Given the description of an element on the screen output the (x, y) to click on. 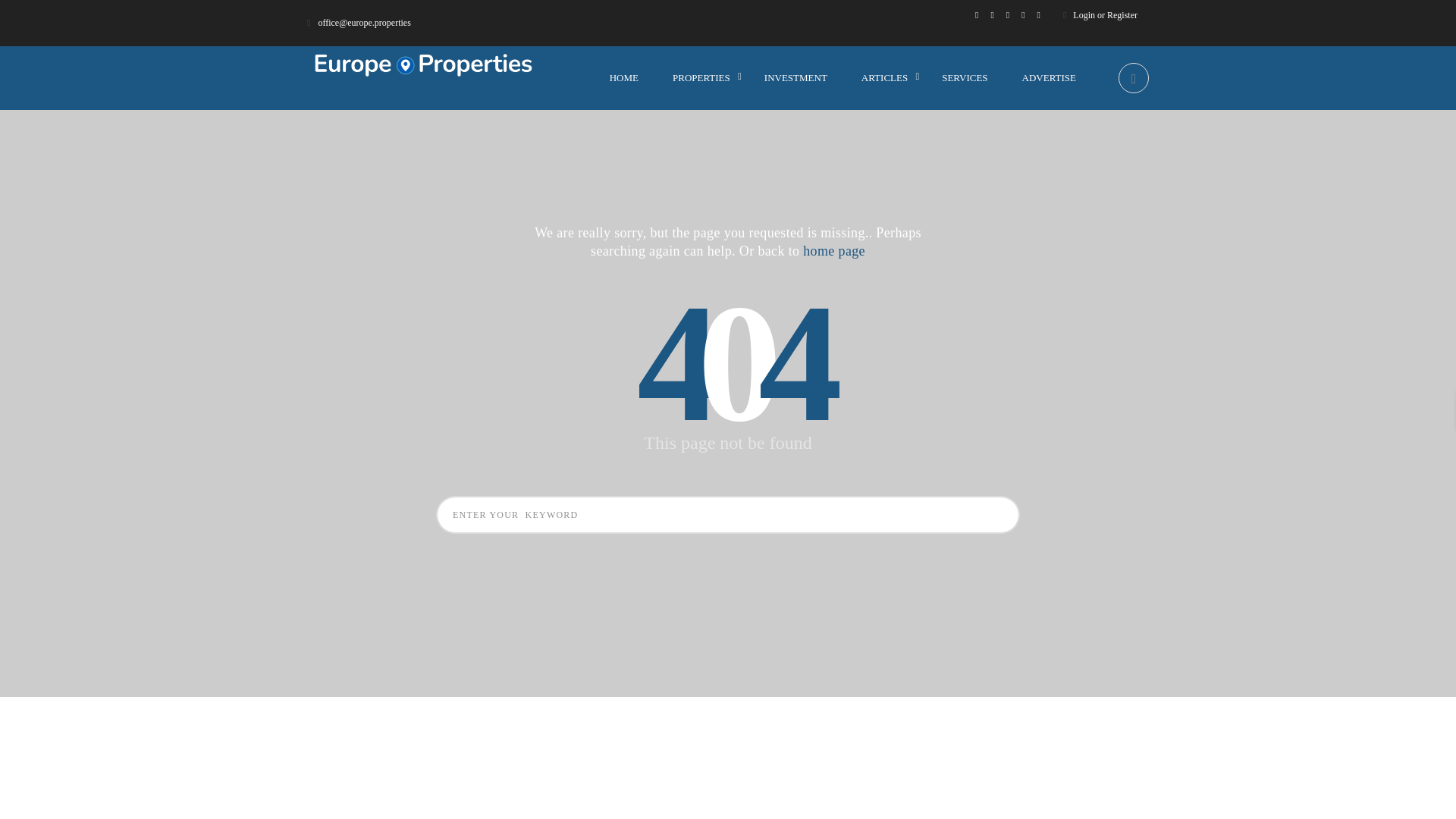
INVESTMENT (795, 77)
ARTICLES (884, 77)
Login or Register (1105, 14)
HOME (624, 77)
PROPERTIES (701, 77)
ADVERTISE (1048, 77)
SERVICES (964, 77)
